Given the description of an element on the screen output the (x, y) to click on. 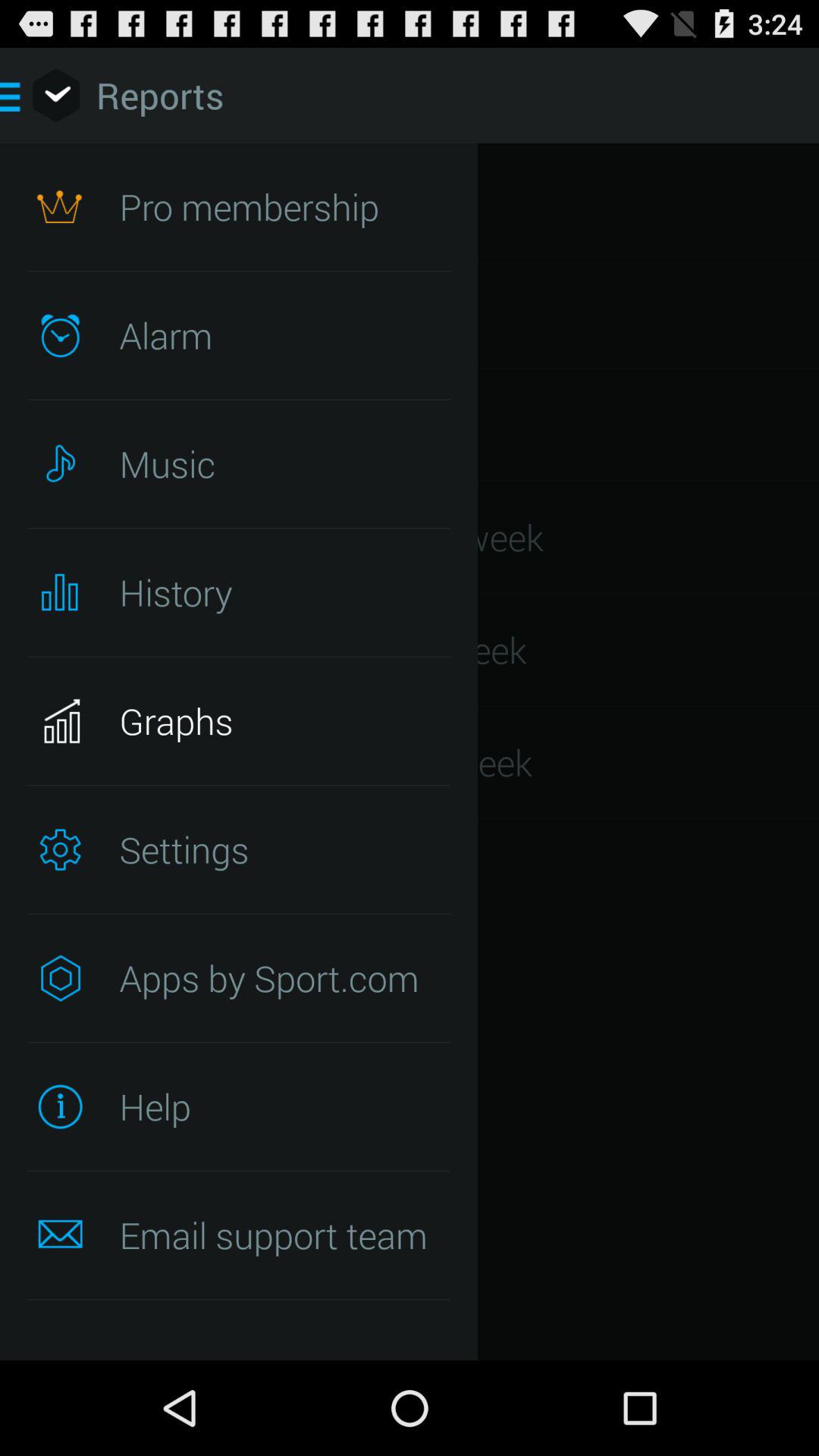
click on icon next to menu and left to reports (55, 95)
